Given the description of an element on the screen output the (x, y) to click on. 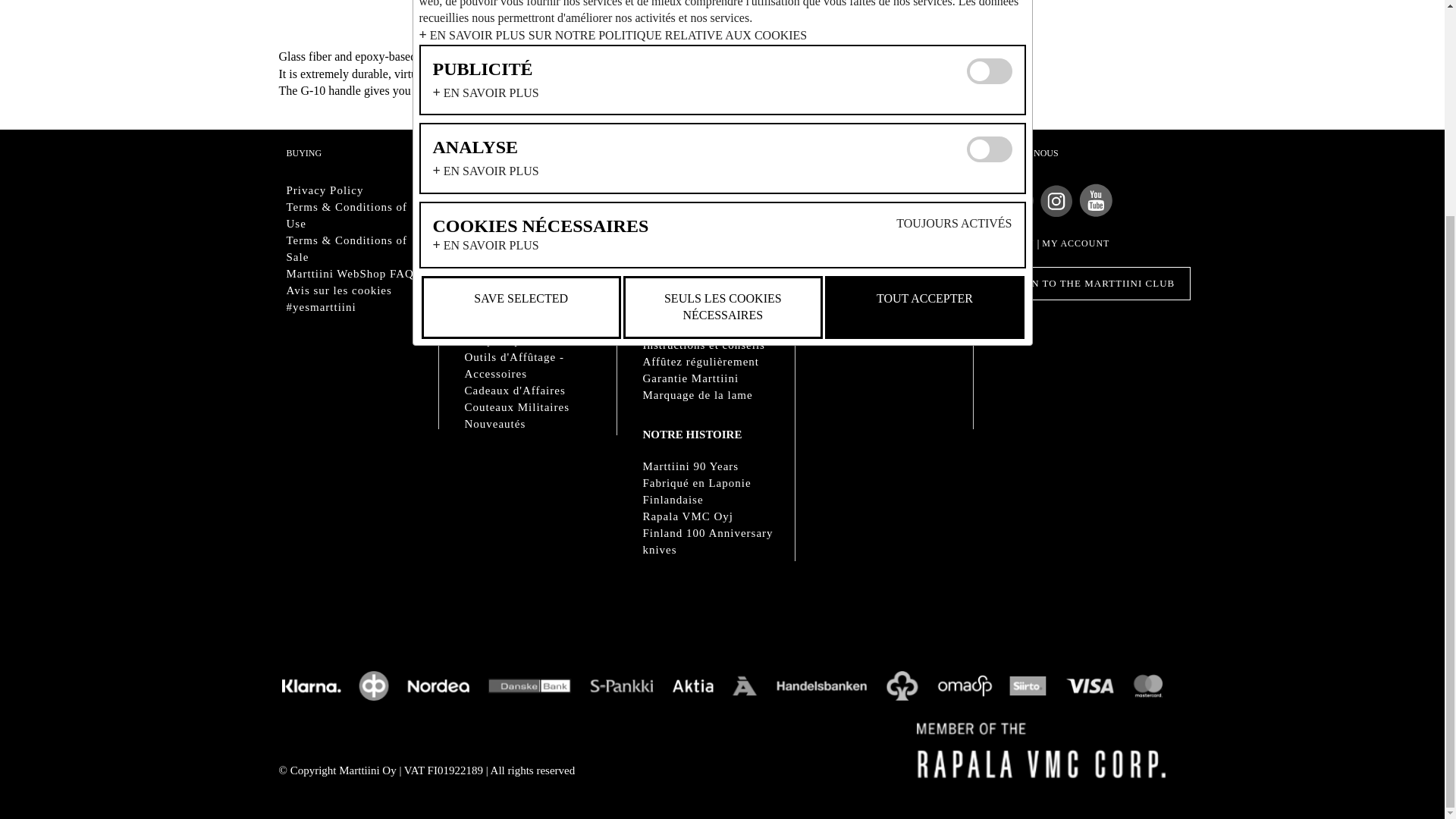
Maksutavat (722, 685)
